Given the description of an element on the screen output the (x, y) to click on. 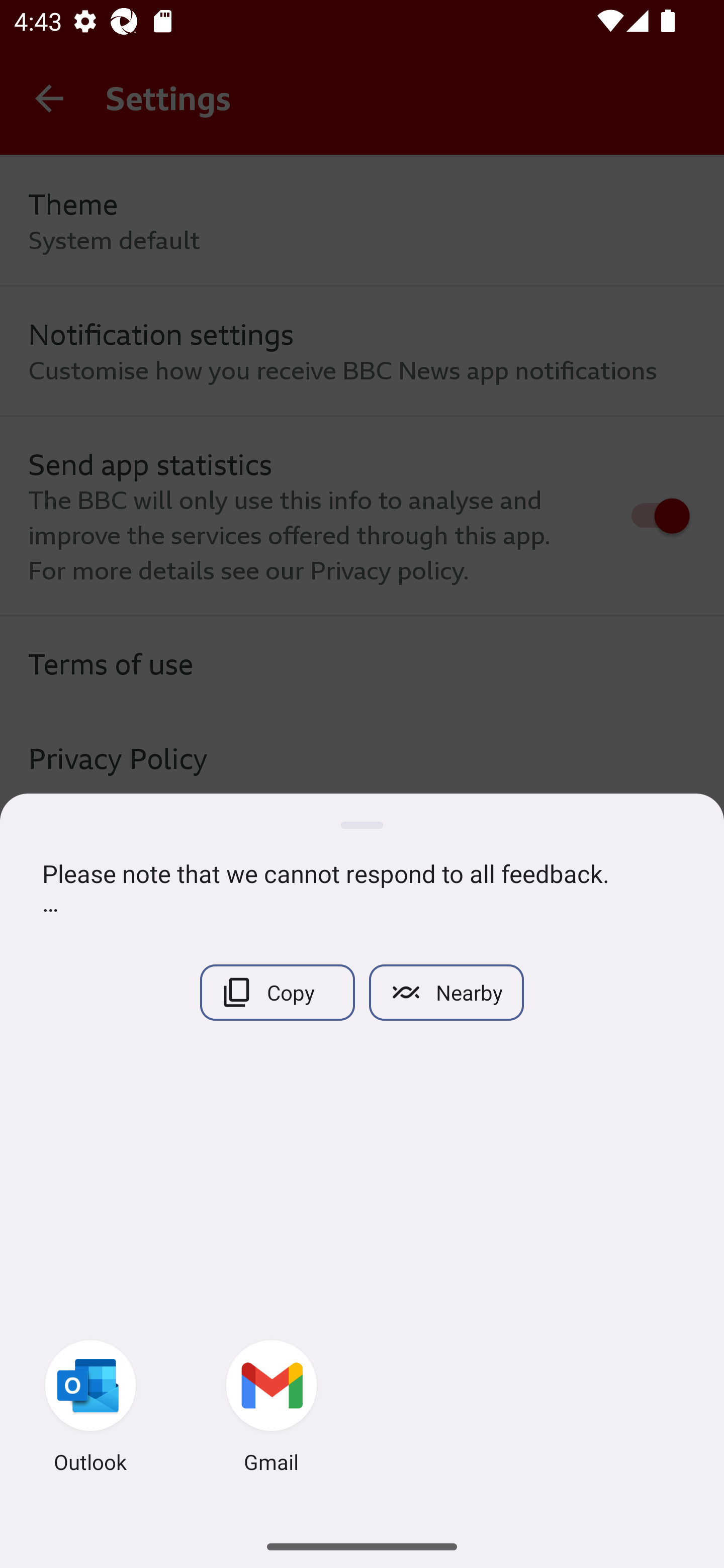
Copy (276, 992)
Nearby (446, 992)
Outlook (90, 1409)
Gmail (271, 1409)
